Given the description of an element on the screen output the (x, y) to click on. 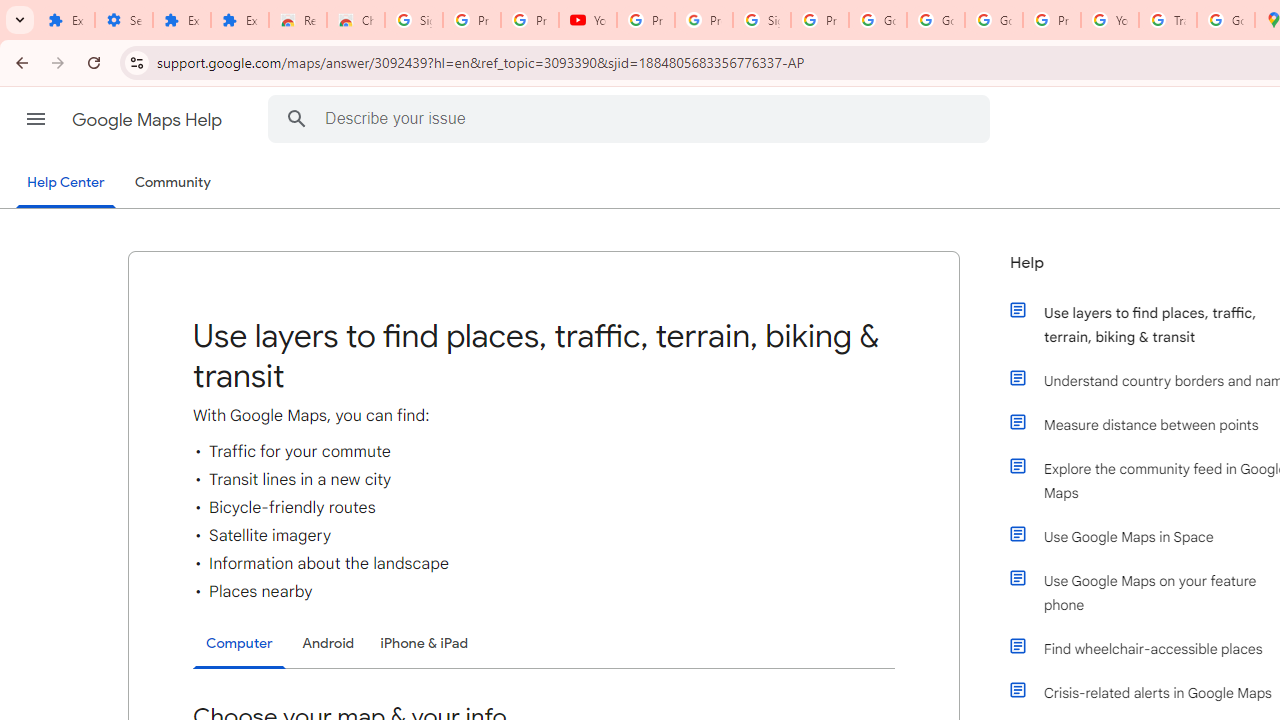
Sign in - Google Accounts (762, 20)
Reviews: Helix Fruit Jump Arcade Game (297, 20)
Chrome Web Store - Themes (355, 20)
Extensions (239, 20)
Android (328, 642)
